Given the description of an element on the screen output the (x, y) to click on. 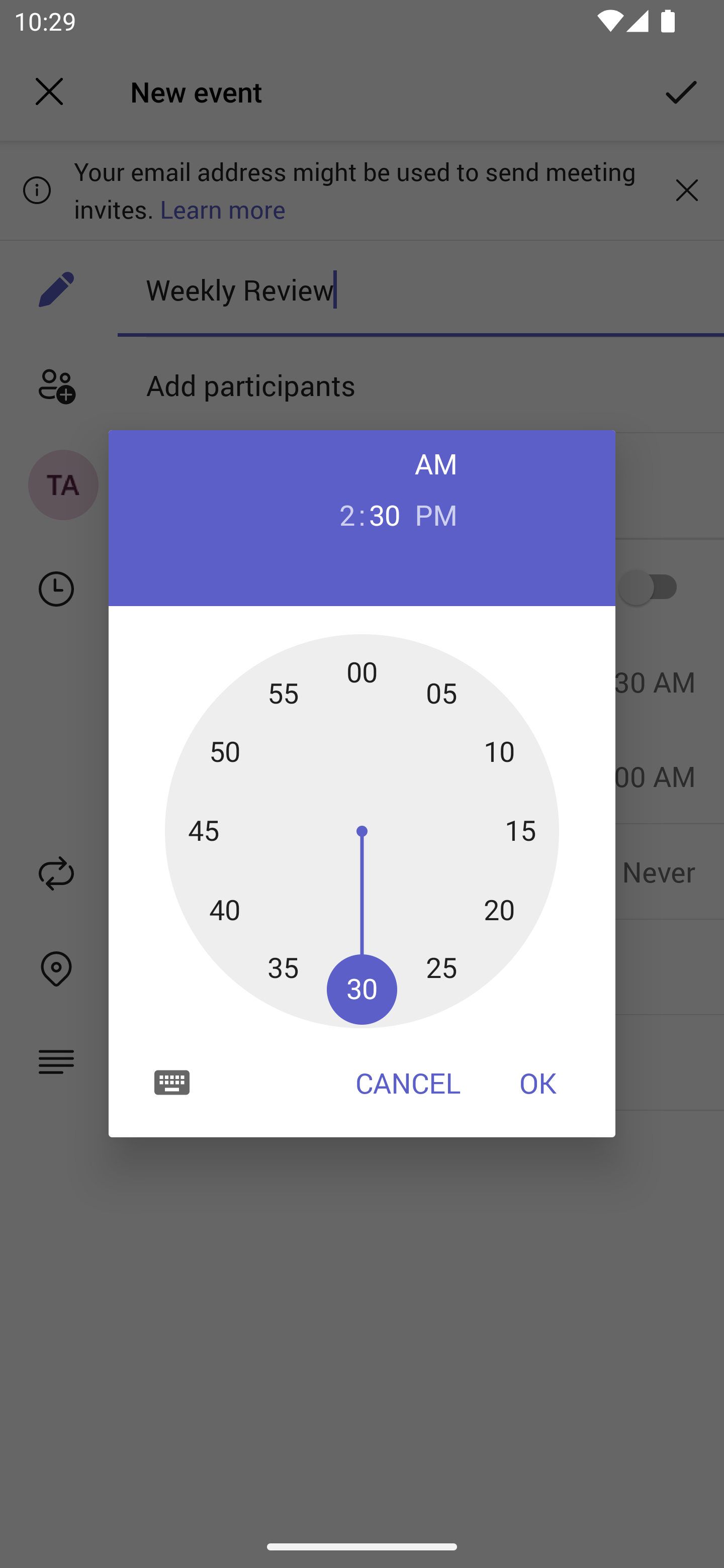
AM (435, 463)
PM (435, 514)
2 (338, 514)
30 (384, 514)
CANCEL (407, 1082)
OK (537, 1082)
Switch to text input mode for the time input. (171, 1081)
